Given the description of an element on the screen output the (x, y) to click on. 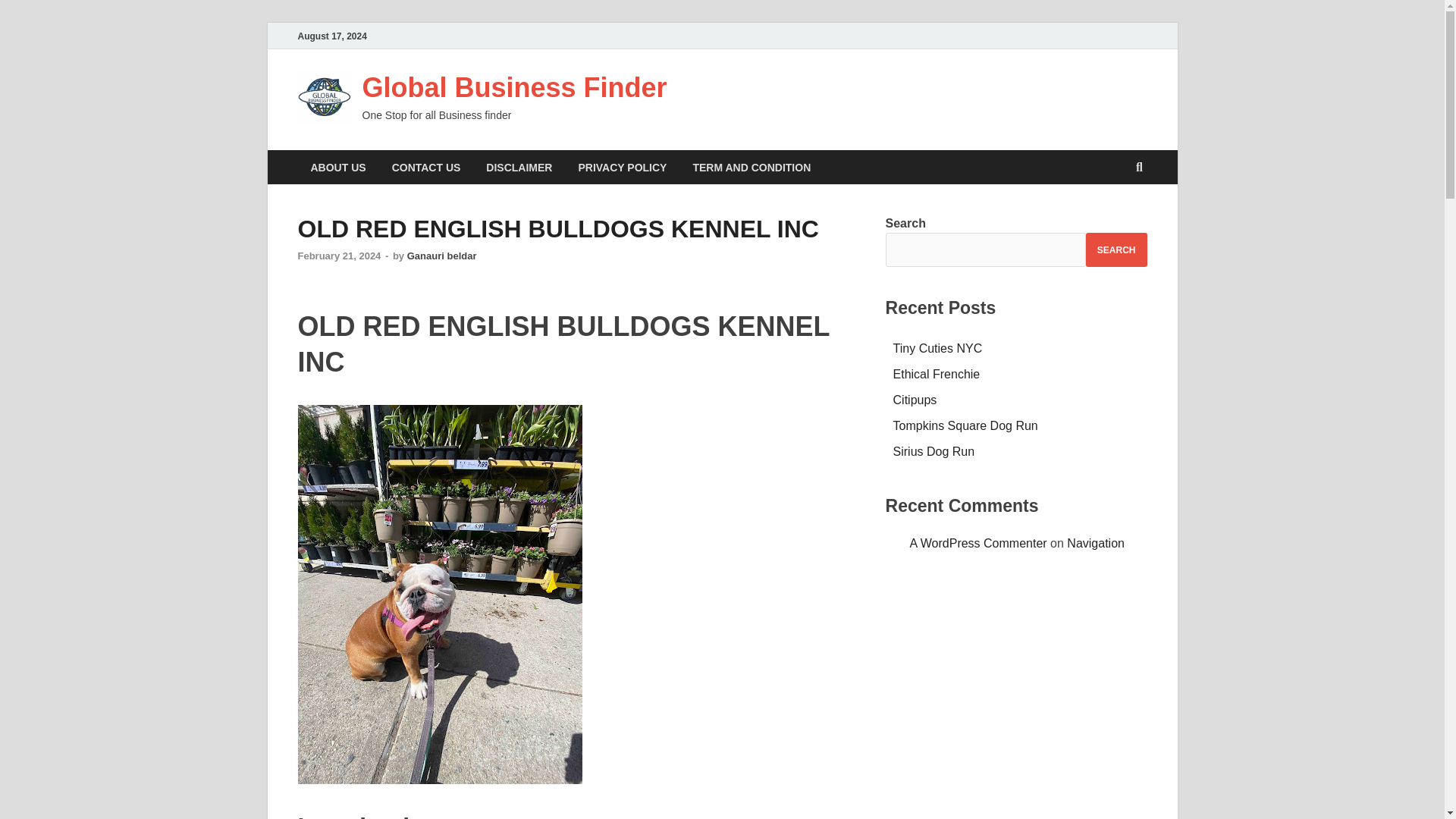
A WordPress Commenter (978, 543)
CONTACT US (426, 166)
Citipups (915, 399)
ABOUT US (337, 166)
Global Business Finder (514, 87)
Ethical Frenchie (936, 373)
February 21, 2024 (338, 255)
Ganauri beldar (442, 255)
Tompkins Square Dog Run (965, 425)
Tiny Cuties NYC (937, 348)
